Given the description of an element on the screen output the (x, y) to click on. 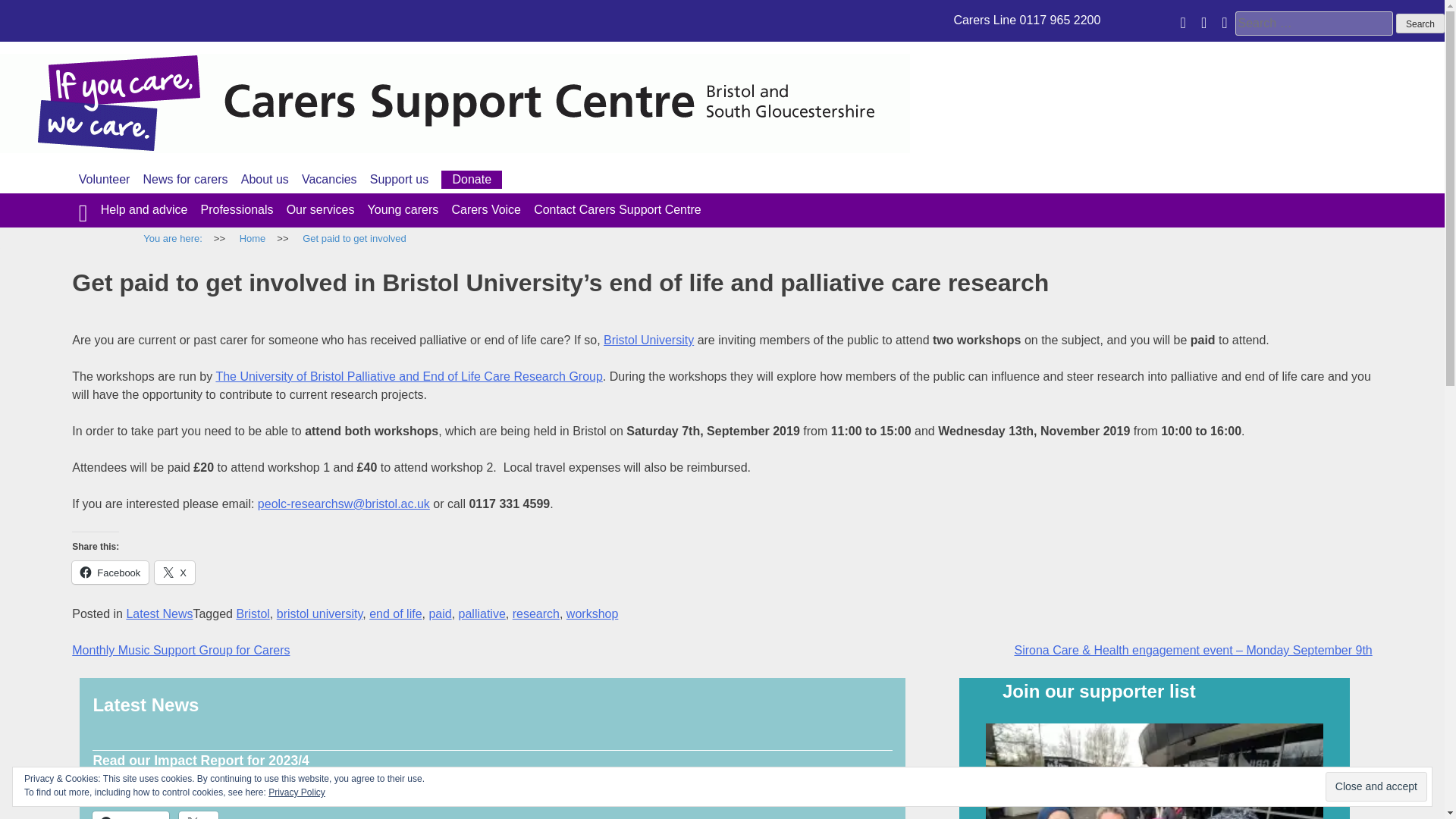
Home (252, 238)
palliative (481, 613)
Get paid to get involved (354, 238)
Carers Voice (486, 209)
Donate (471, 179)
News for carers (185, 179)
Click to share on X (174, 572)
Click to share on X (199, 815)
Bristol University (649, 339)
Young carers (403, 209)
